Given the description of an element on the screen output the (x, y) to click on. 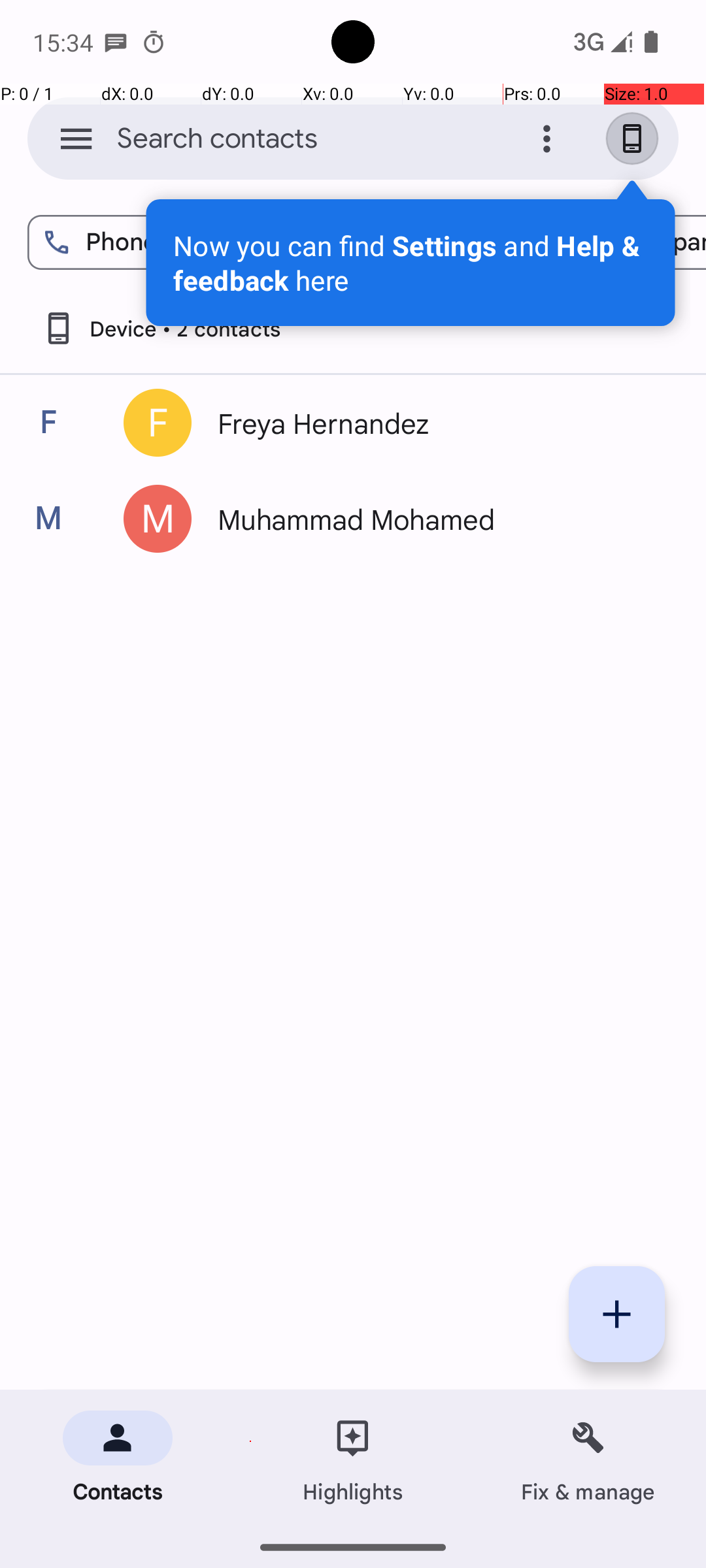
Device • 2 contacts Element type: android.widget.TextView (161, 328)
Freya Hernandez Element type: android.widget.TextView (434, 422)
Muhammad Mohamed Element type: android.widget.TextView (434, 518)
SMS Messenger notification: Freya Hernandez Element type: android.widget.ImageView (115, 41)
